Given the description of an element on the screen output the (x, y) to click on. 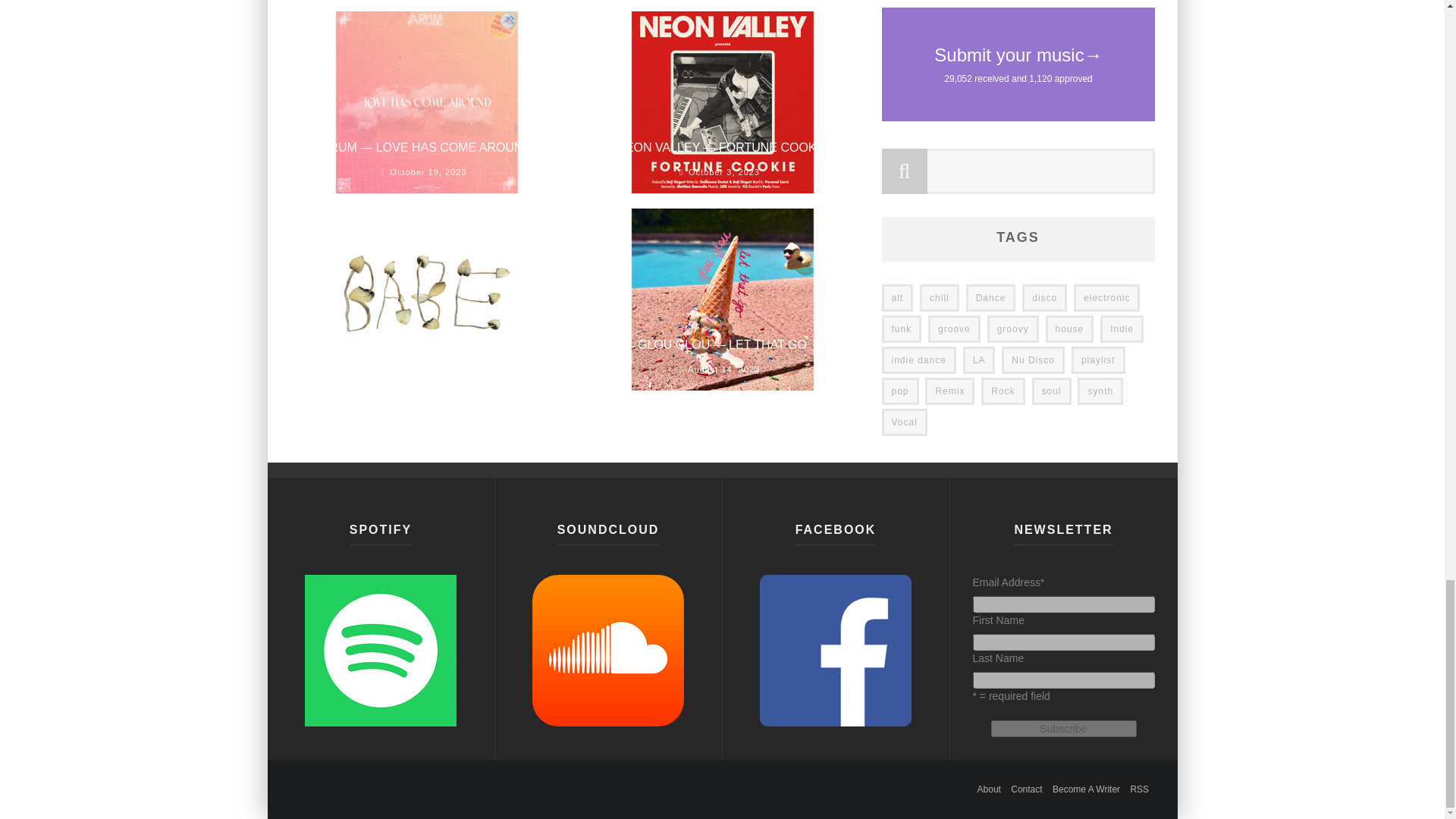
Subscribe (1062, 728)
